Given the description of an element on the screen output the (x, y) to click on. 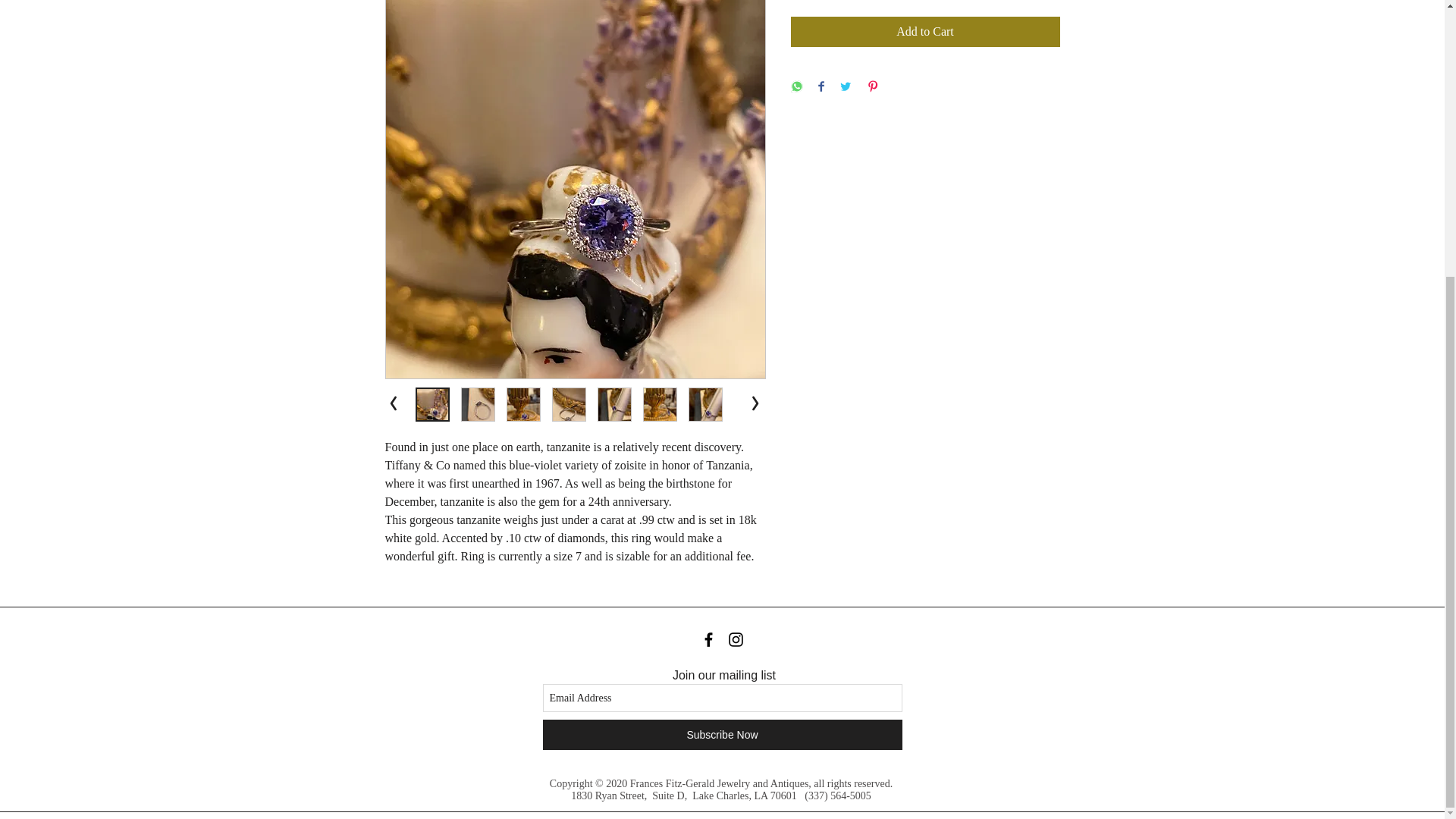
Add to Cart (924, 31)
